Given the description of an element on the screen output the (x, y) to click on. 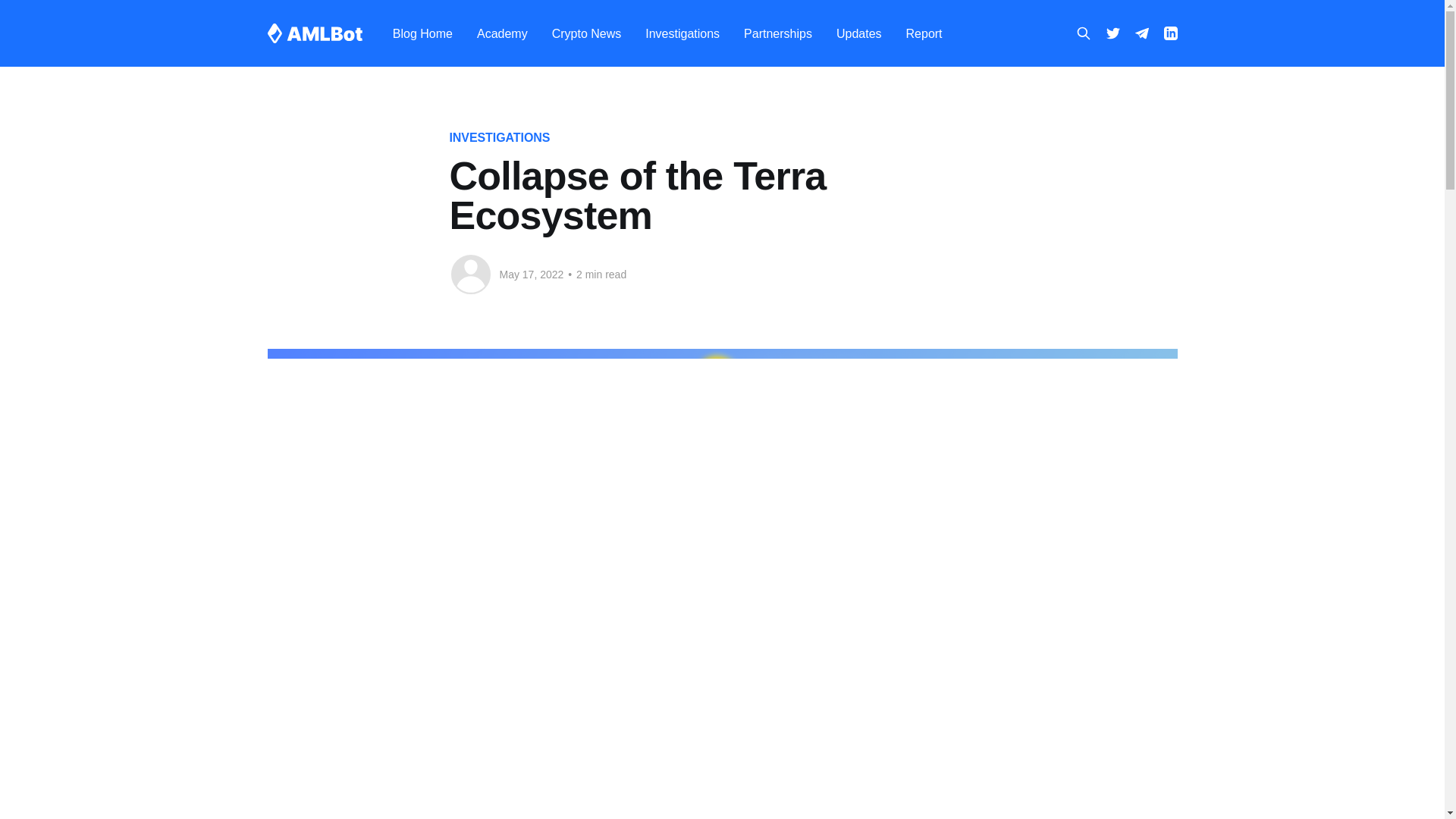
Investigations (682, 33)
Crypto News (586, 33)
Report (923, 33)
Academy (502, 33)
Updates (858, 33)
Blog Home (422, 33)
INVESTIGATIONS (499, 137)
Twitter (1112, 33)
Partnerships (778, 33)
